Given the description of an element on the screen output the (x, y) to click on. 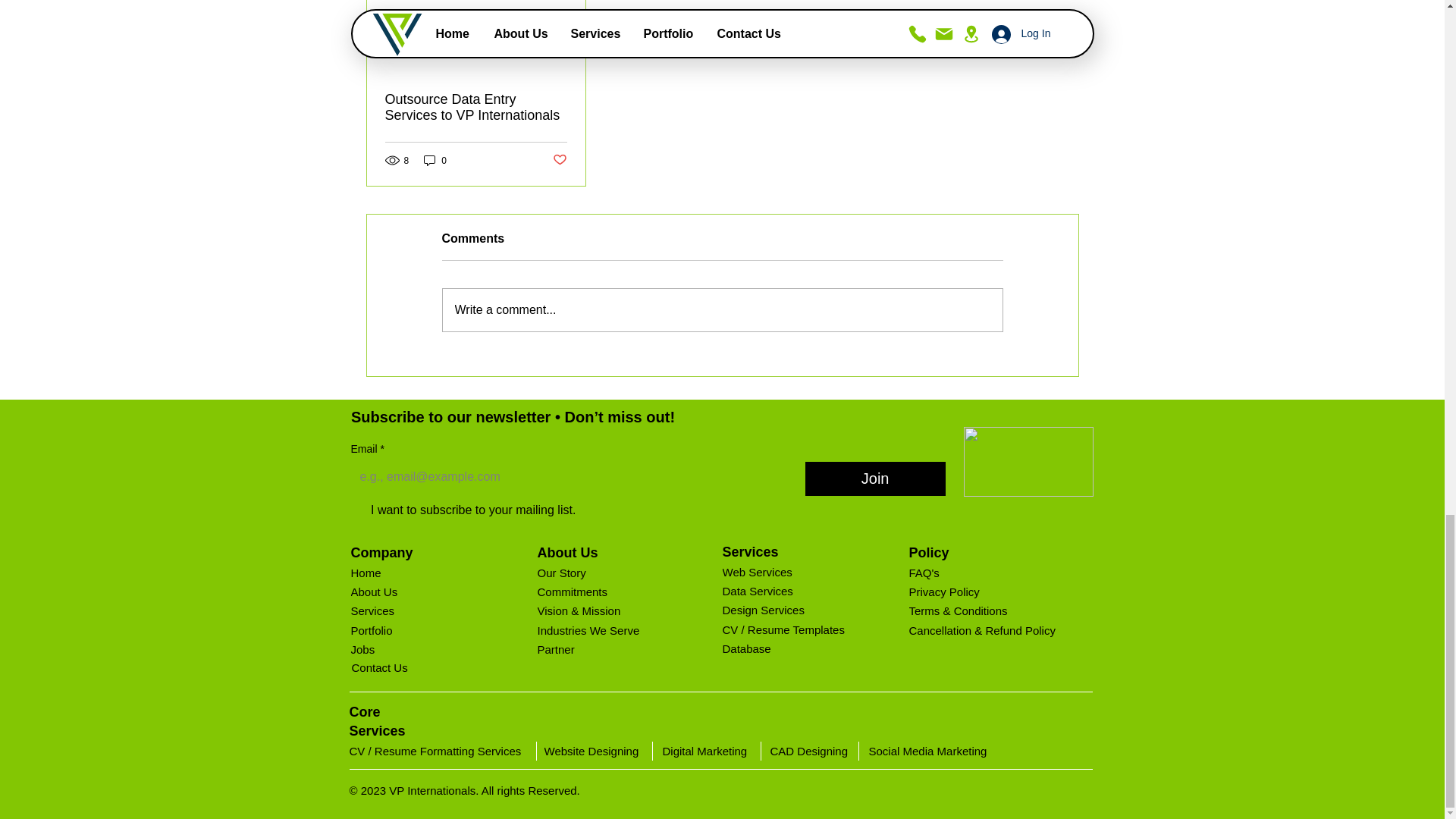
Services (407, 610)
0 (435, 160)
Our Story (593, 572)
Portfolio (407, 629)
Join (874, 478)
Contact Us (408, 667)
Trustpilot Review Bedge (1027, 461)
Outsource Data Entry Services to VP Internationals (476, 107)
Post not marked as liked (558, 160)
Jobs (407, 649)
Home (407, 572)
Write a comment... (722, 310)
About Us (407, 591)
